Given the description of an element on the screen output the (x, y) to click on. 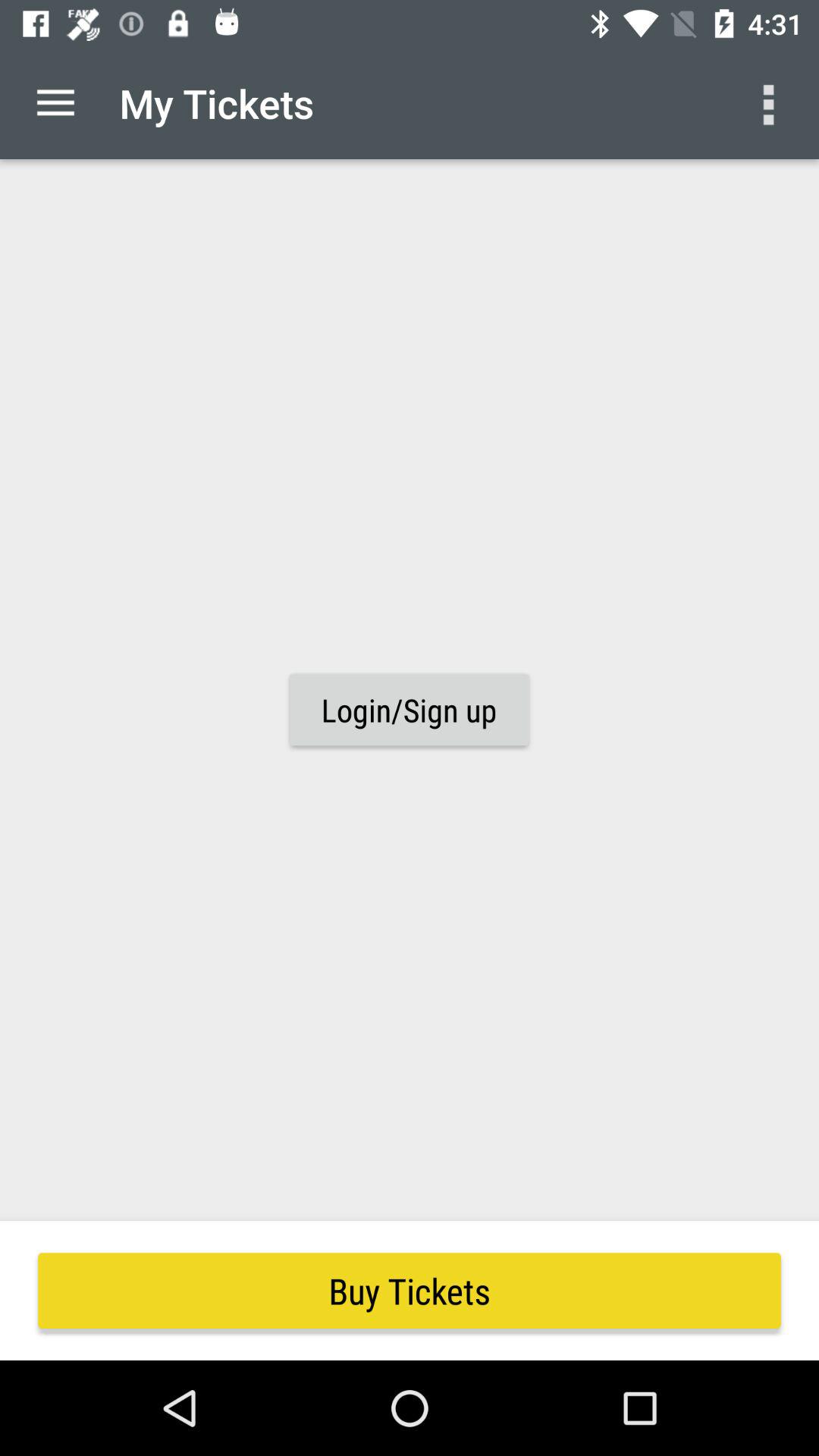
turn on the item next to the my tickets (771, 103)
